Given the description of an element on the screen output the (x, y) to click on. 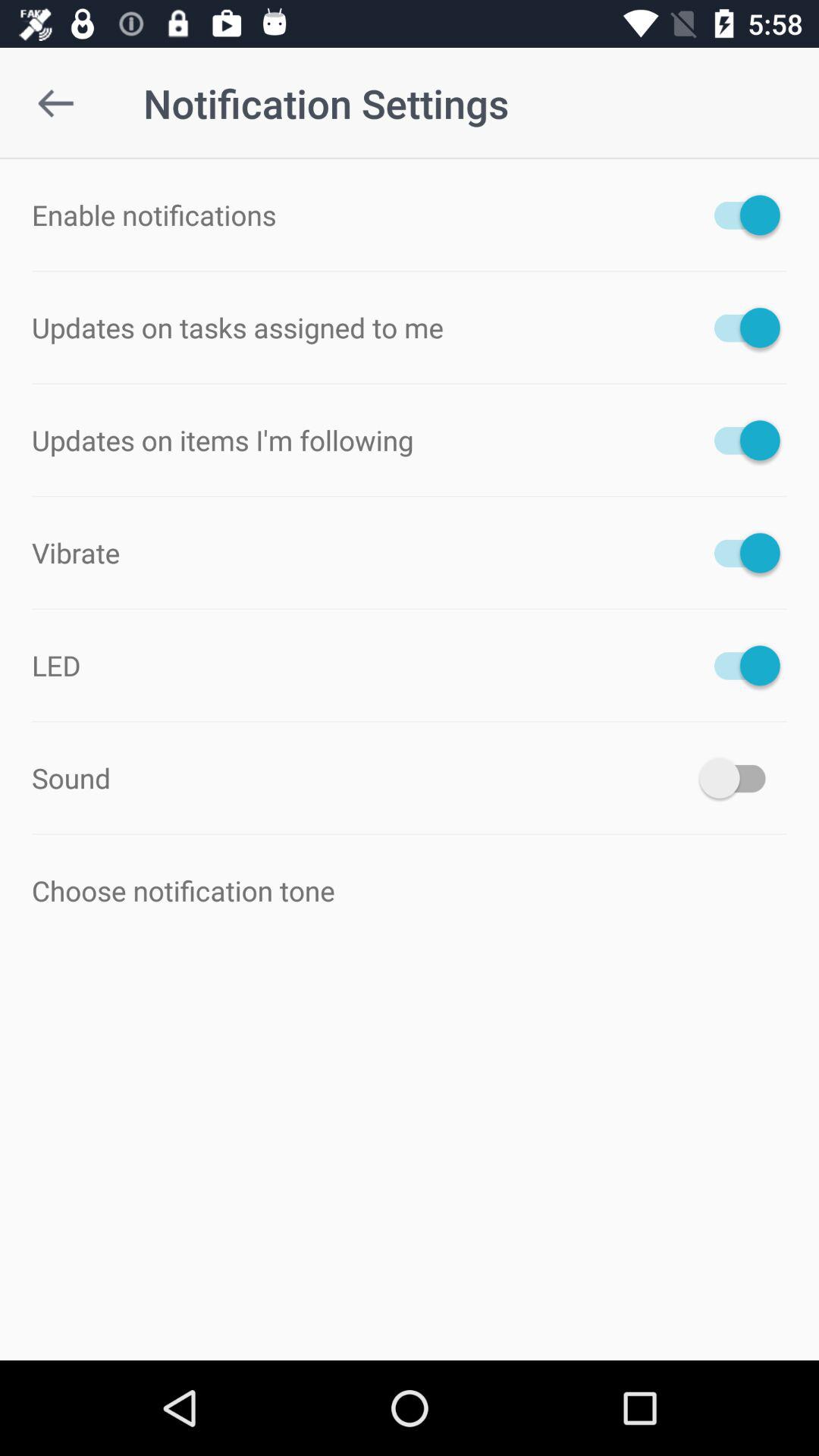
switch spund option (739, 777)
